Given the description of an element on the screen output the (x, y) to click on. 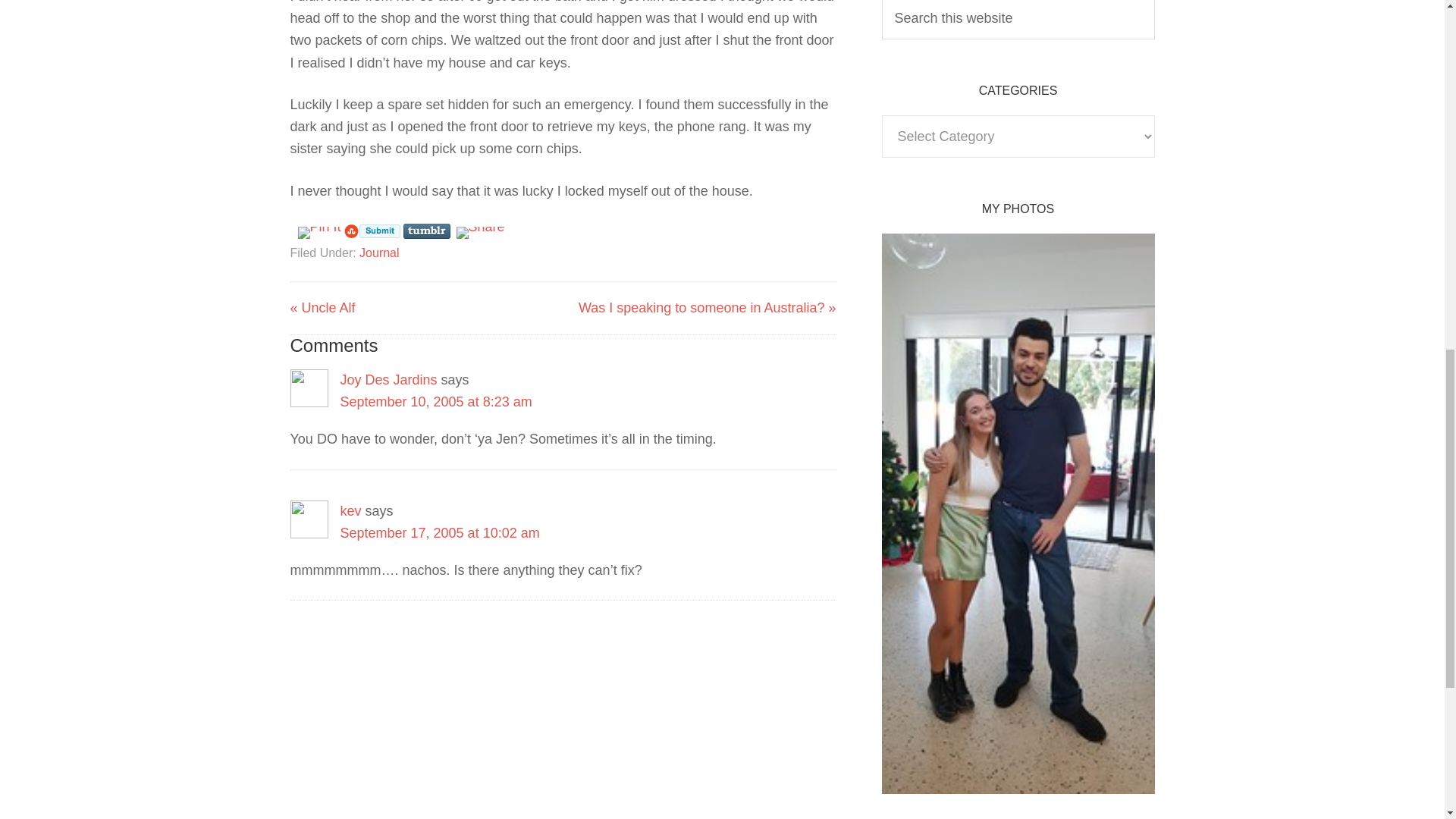
September 10, 2005 at 8:23 am (435, 401)
September 17, 2005 at 10:02 am (438, 532)
Submit to StumbleUpon (371, 231)
Journal (378, 252)
Joy Des Jardins (387, 379)
kev (350, 510)
Pin It (318, 232)
Share on Tumblr (426, 231)
